Given the description of an element on the screen output the (x, y) to click on. 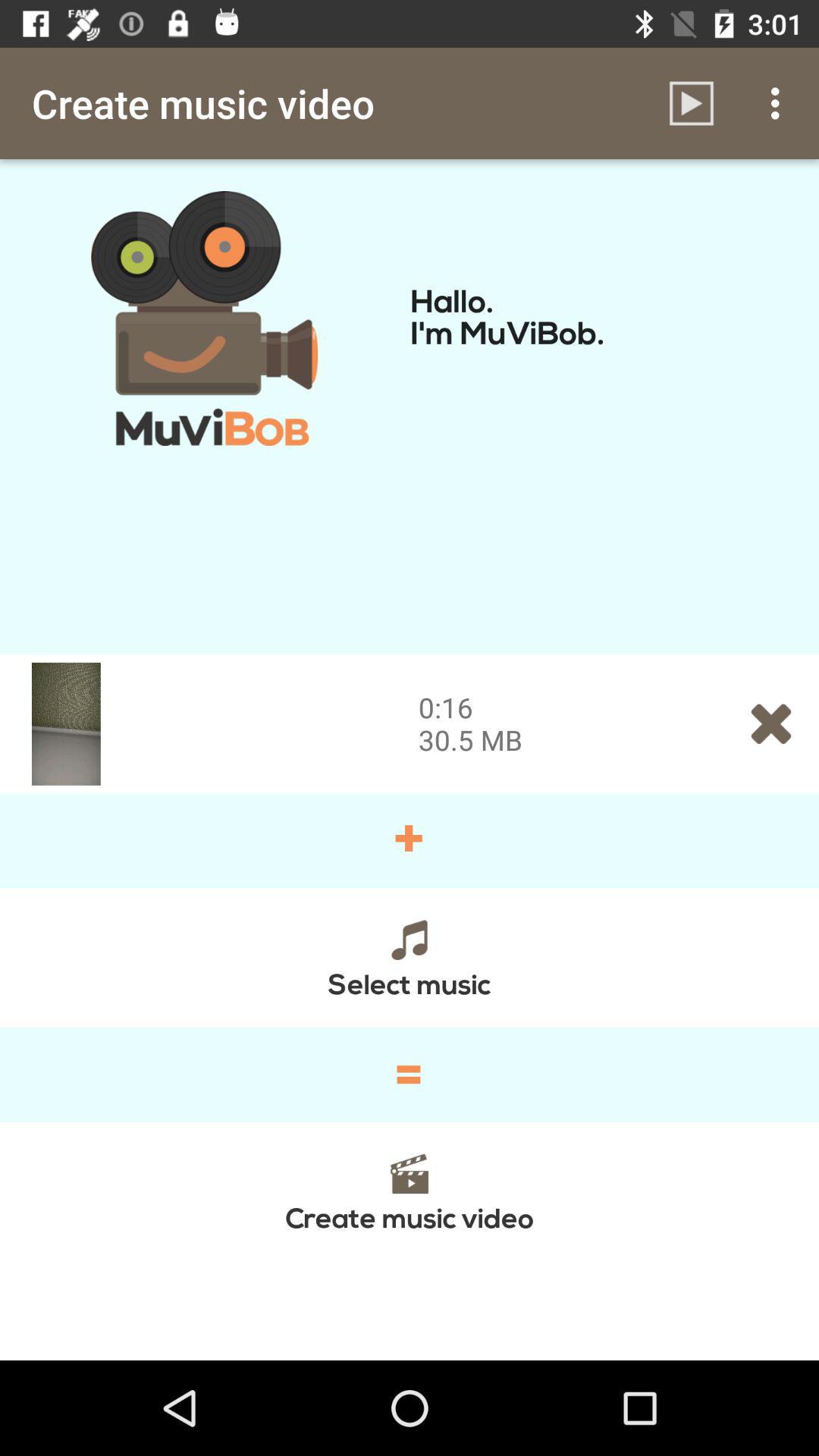
open select music (409, 957)
